Given the description of an element on the screen output the (x, y) to click on. 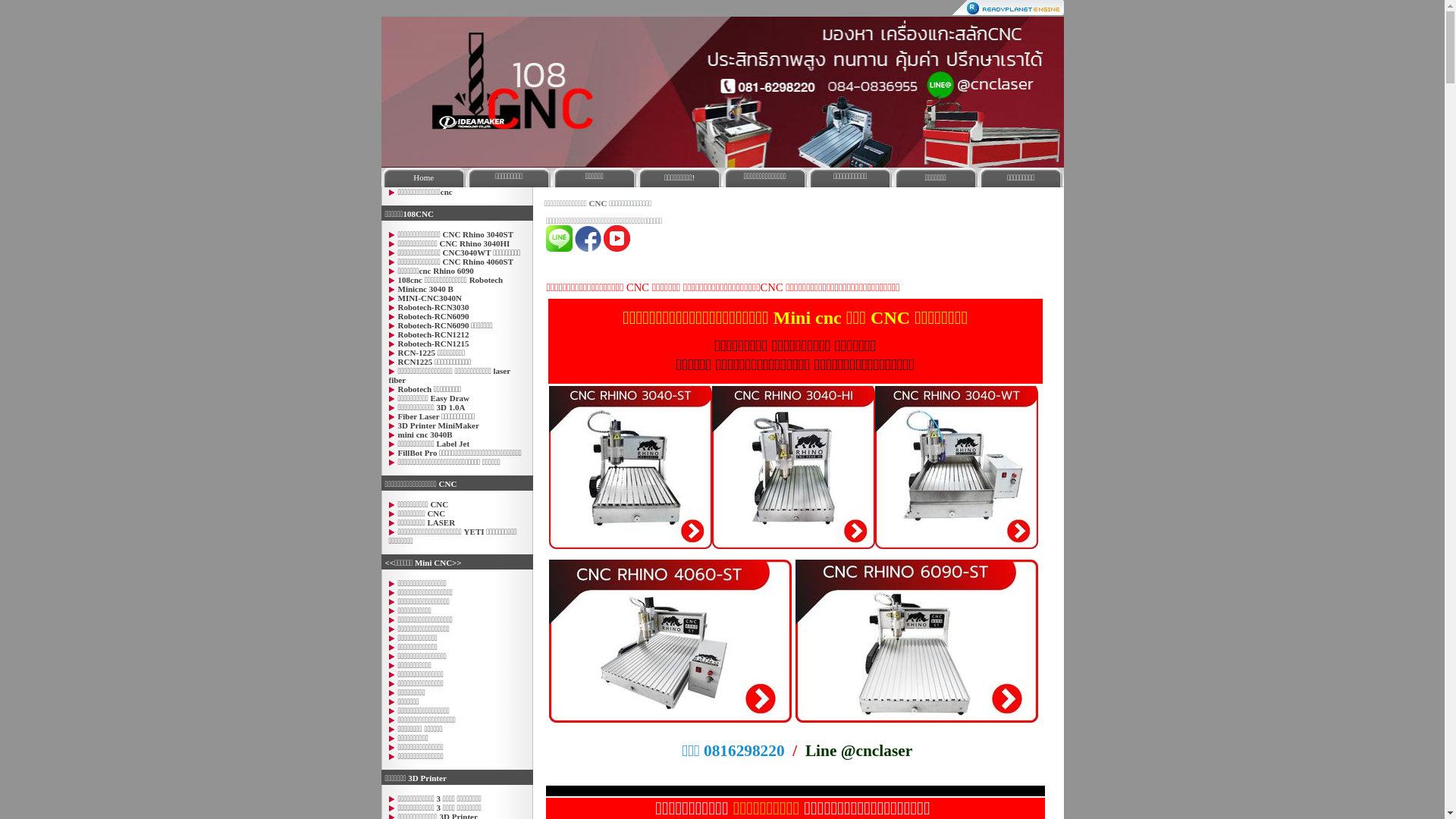
Line @cnclaser Element type: text (858, 750)
Robotech-RCN6090 Element type: text (432, 315)
Robotech-RCN1212 Element type: text (432, 333)
ReadyPlanet.com Element type: hover (1007, 7)
Robotech-RCN1215 Element type: text (432, 343)
3D Printer MiniMaker Element type: text (437, 424)
Robotech-RCN3030 Element type: text (432, 306)
mini cnc 3040B Element type: text (424, 434)
Minicnc 3040 B Element type: text (424, 288)
MINI-CNC3040N Element type: text (429, 297)
Home Element type: text (423, 177)
